Given the description of an element on the screen output the (x, y) to click on. 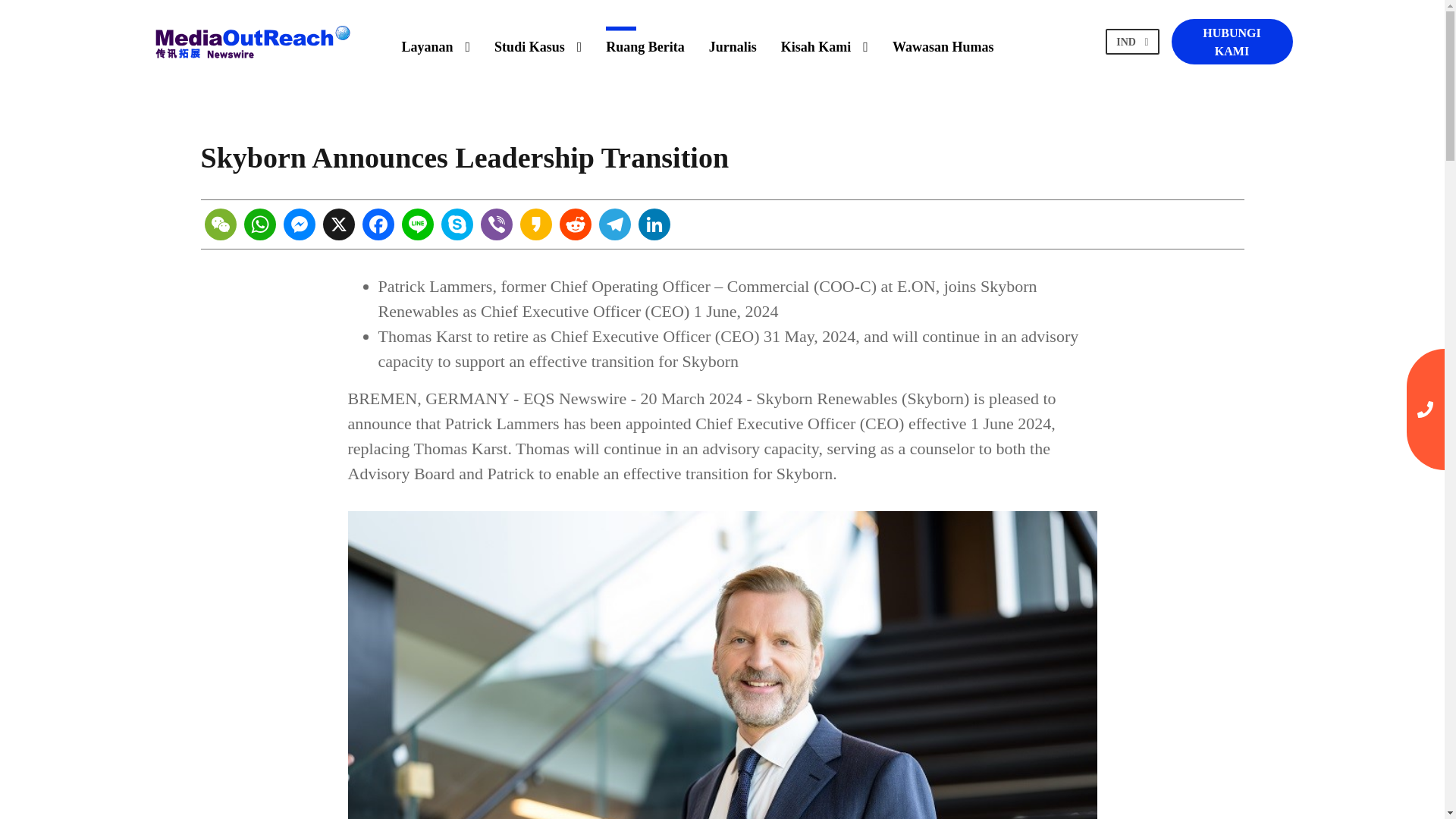
Jurnalis (733, 40)
HUBUNGI KAMI (1231, 41)
Wawasan Humas (943, 40)
IND (1132, 41)
Kisah Kami (823, 40)
Ruang Berita (644, 40)
Layanan (435, 40)
Studi Kasus (537, 40)
